Given the description of an element on the screen output the (x, y) to click on. 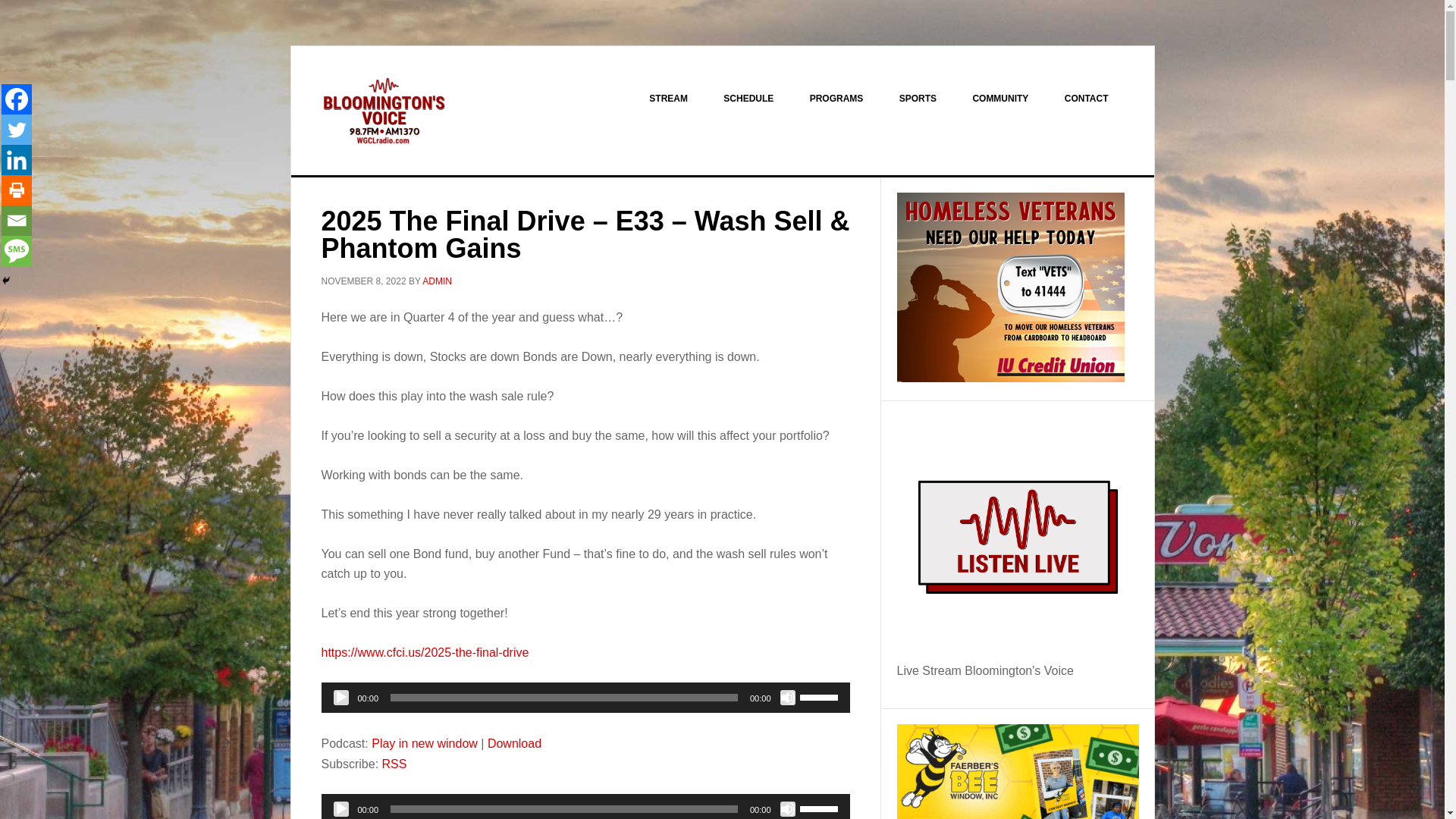
ADMIN (436, 281)
Mute (786, 807)
BLOOMINGTON'S VOICE (419, 110)
Play (341, 807)
COMMUNITY (999, 98)
CONTACT (1086, 98)
STREAM (668, 98)
Mute (786, 697)
PROGRAMS (837, 98)
